Given the description of an element on the screen output the (x, y) to click on. 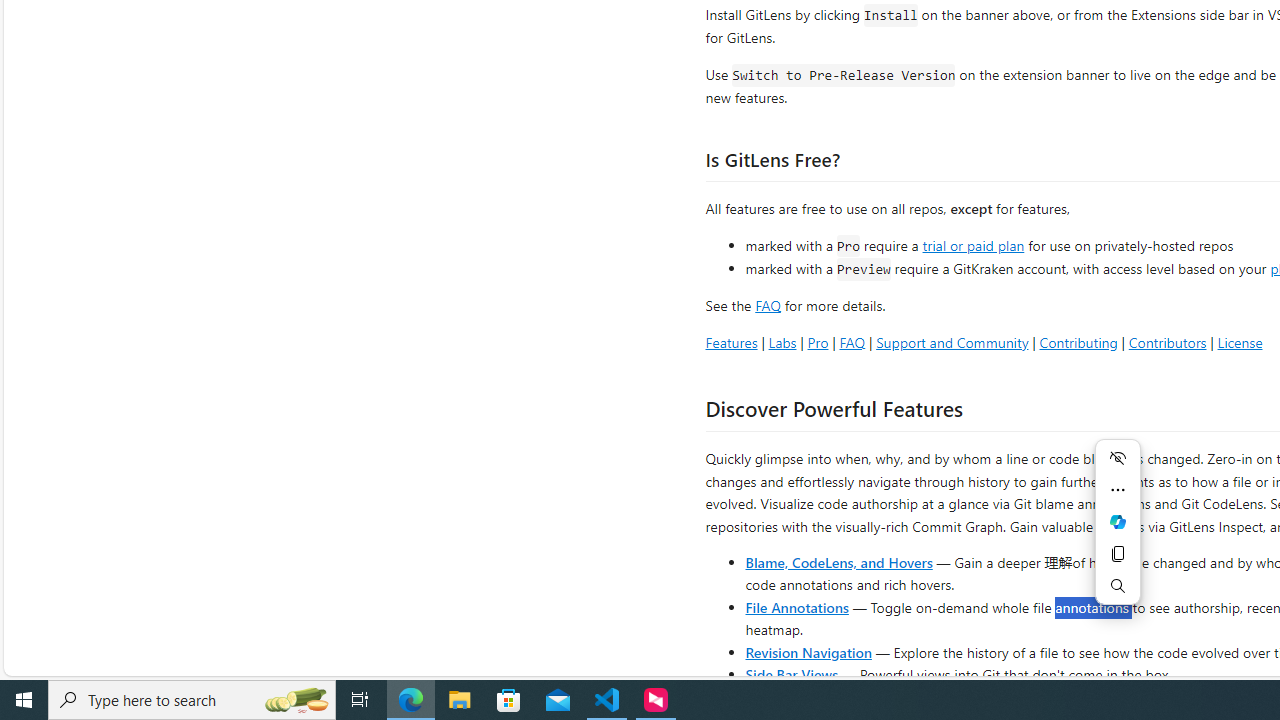
Copy (1117, 553)
FAQ (852, 341)
License (1240, 341)
Blame, CodeLens, and Hovers (838, 561)
Support and Community (952, 341)
Ask Copilot (1117, 521)
Side Bar Views (791, 673)
Labs (782, 341)
Contributors (1167, 341)
Pro (817, 341)
Mini menu on text selection (1117, 534)
Hide menu (1117, 457)
Features (731, 341)
Mini menu on text selection (1117, 521)
File Annotations (796, 606)
